Given the description of an element on the screen output the (x, y) to click on. 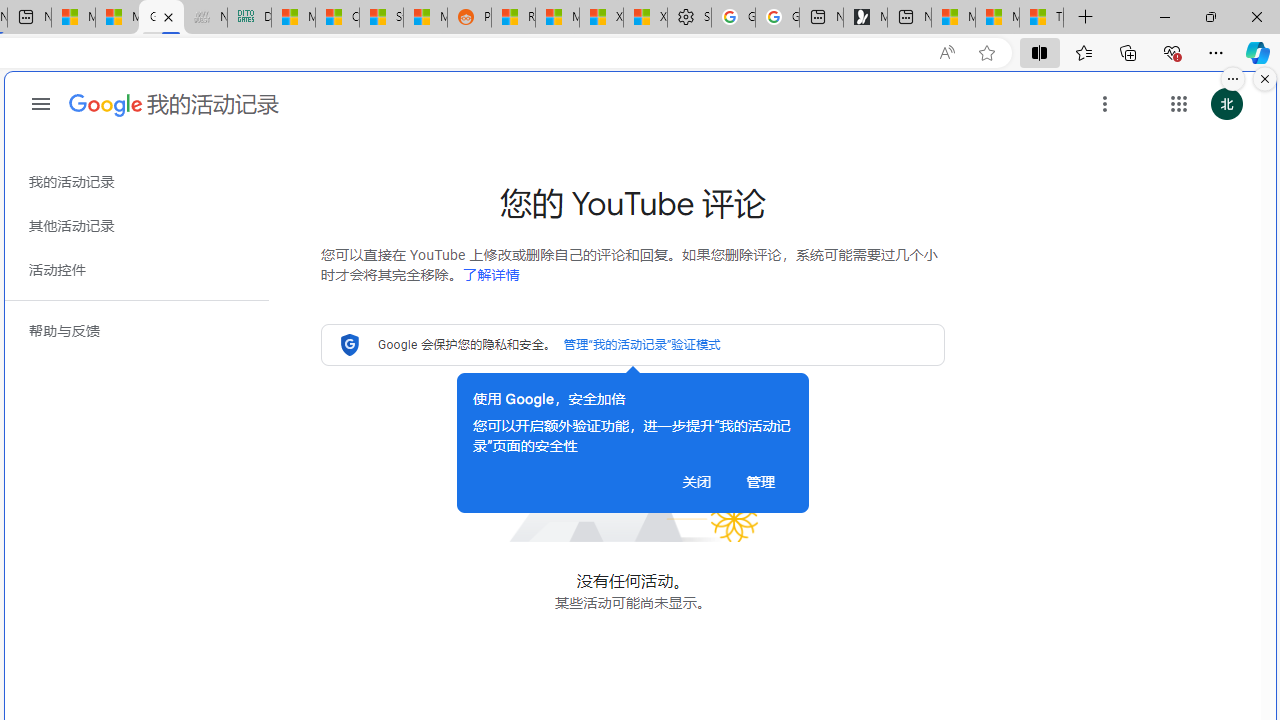
Class: Xviznc NMm5M (1105, 103)
Read aloud this page (Ctrl+Shift+U) (946, 53)
Favorites (1083, 52)
Add this page to favorites (Ctrl+D) (986, 53)
Close tab (168, 16)
Browser essentials (1171, 52)
Collections (1128, 52)
Navy Quest (205, 17)
